Given the description of an element on the screen output the (x, y) to click on. 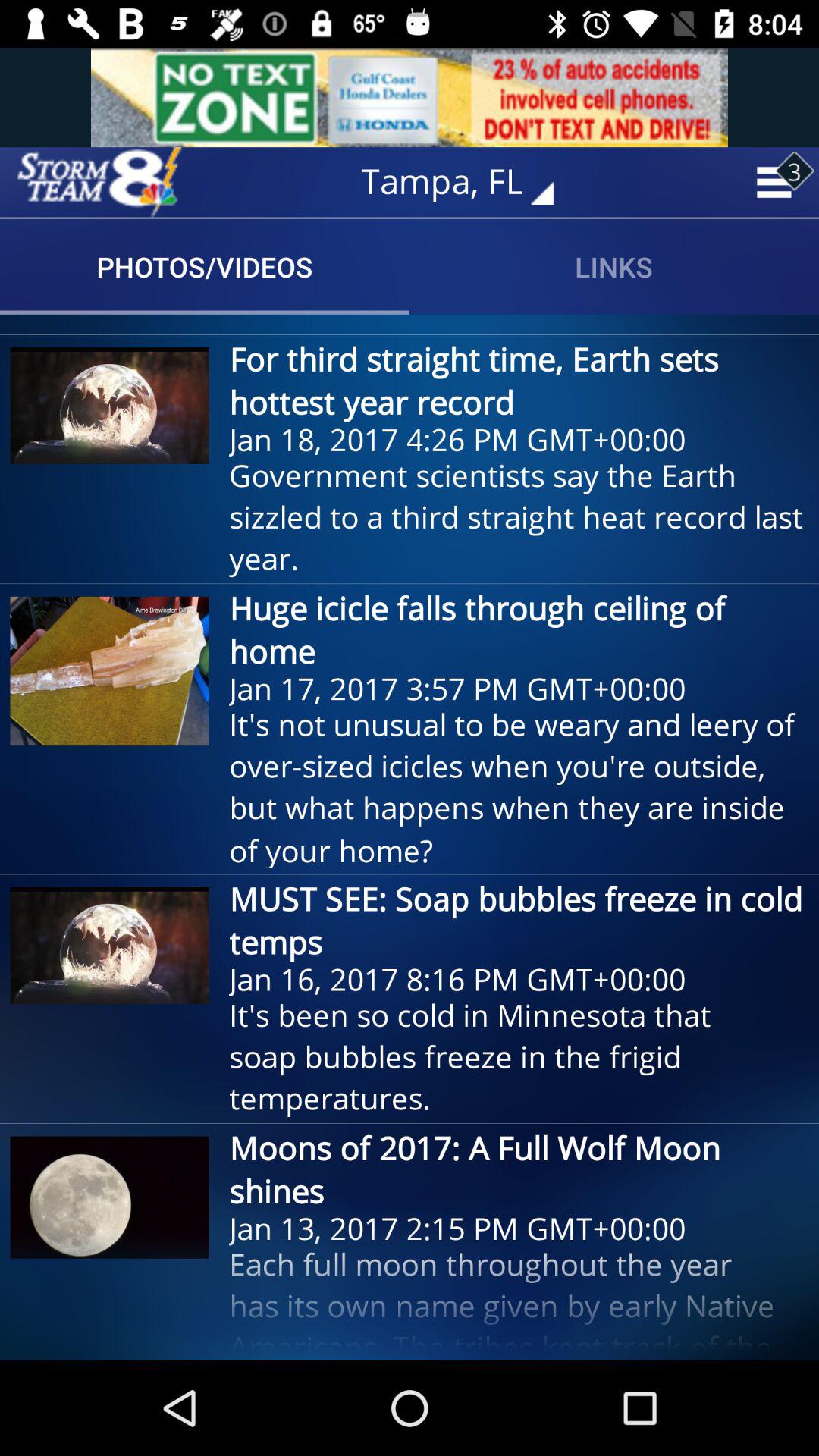
home screen (99, 182)
